Given the description of an element on the screen output the (x, y) to click on. 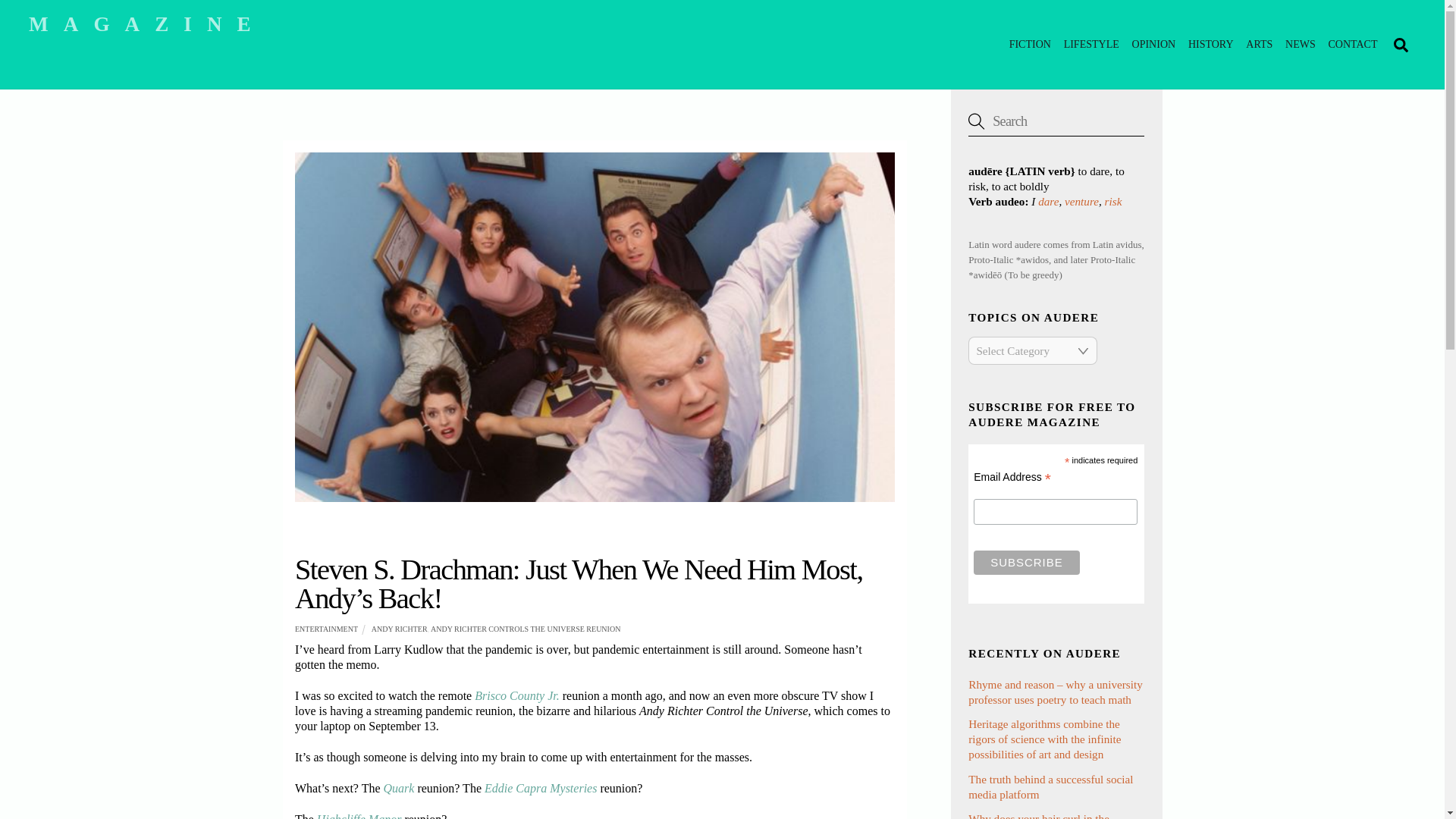
ANDY RICHTER (399, 628)
ENTERTAINMENT (326, 628)
MAGAZINE (147, 24)
NEWS (1300, 43)
Eddie Capra Mysteries (540, 788)
Highcliffe Manor (359, 816)
OPINION (1152, 43)
Brisco County Jr. (516, 695)
Search (722, 43)
